Given the description of an element on the screen output the (x, y) to click on. 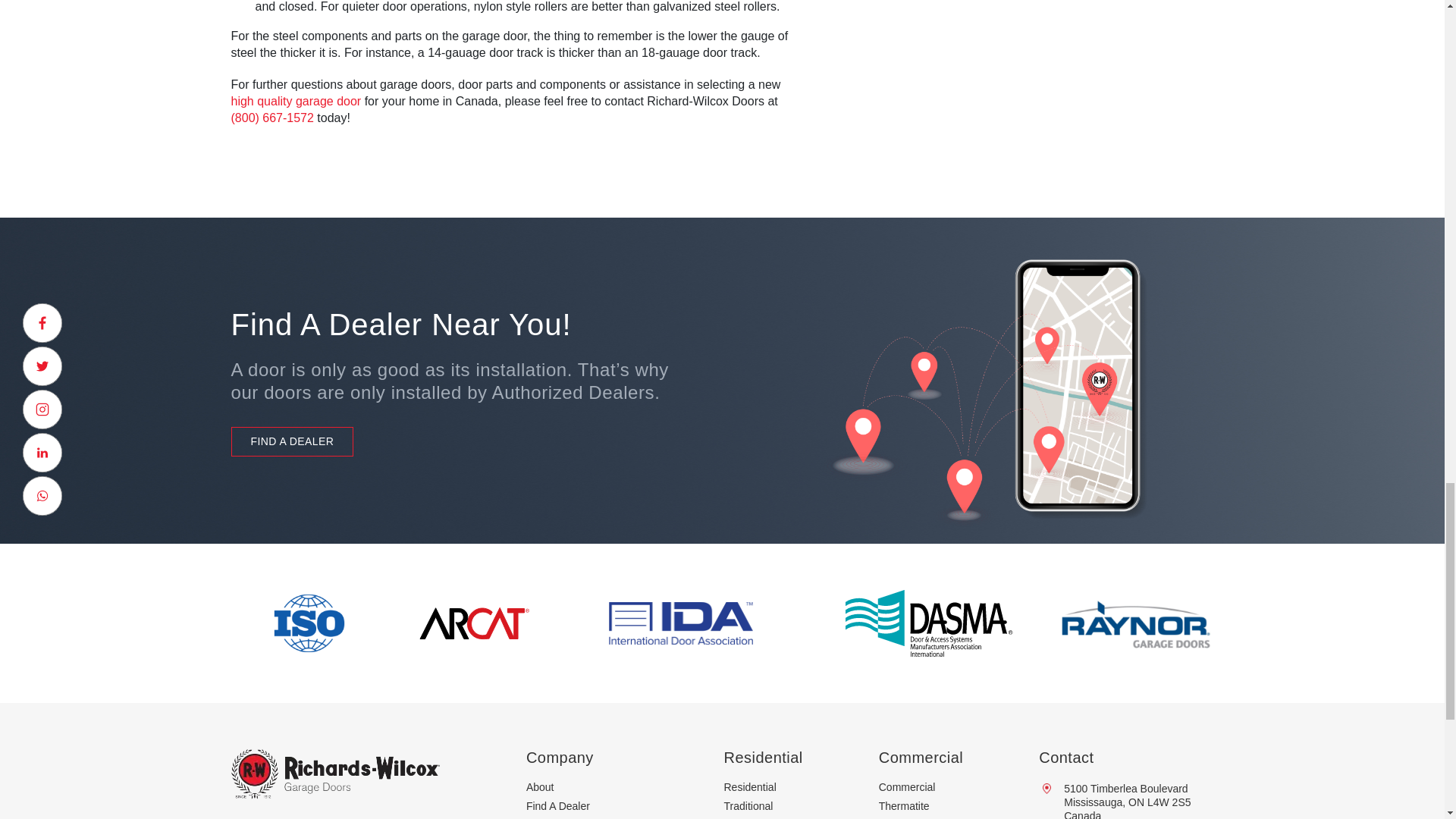
group 1763 (474, 622)
RAYNOR-Logo-footer (1134, 623)
group 1767 (309, 622)
group 1765 (928, 622)
group 1764 (680, 622)
